Given the description of an element on the screen output the (x, y) to click on. 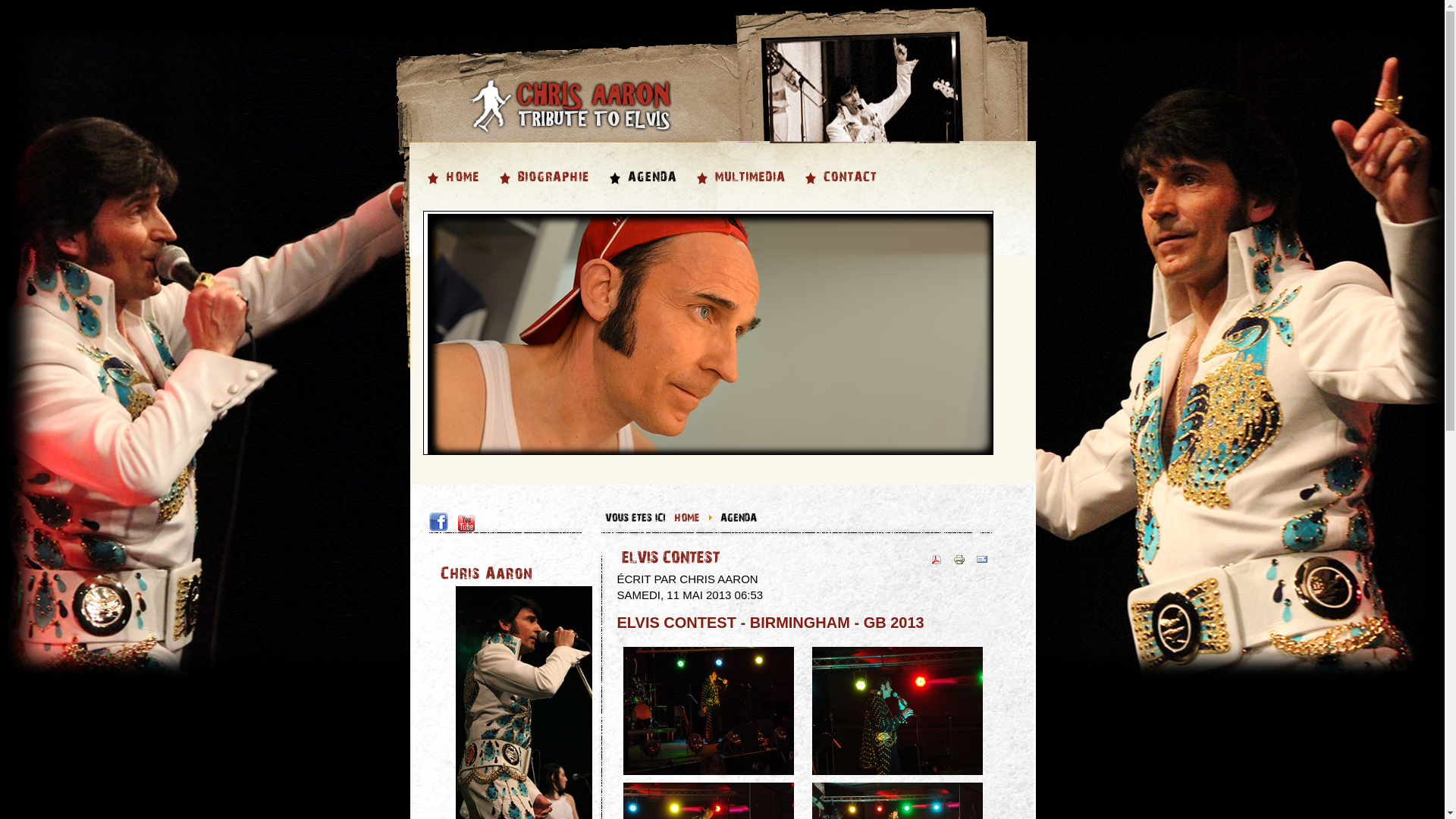
Imprimer Element type: hover (959, 563)
PDF Element type: hover (936, 563)
Envoyer Element type: hover (981, 563)
